Given the description of an element on the screen output the (x, y) to click on. 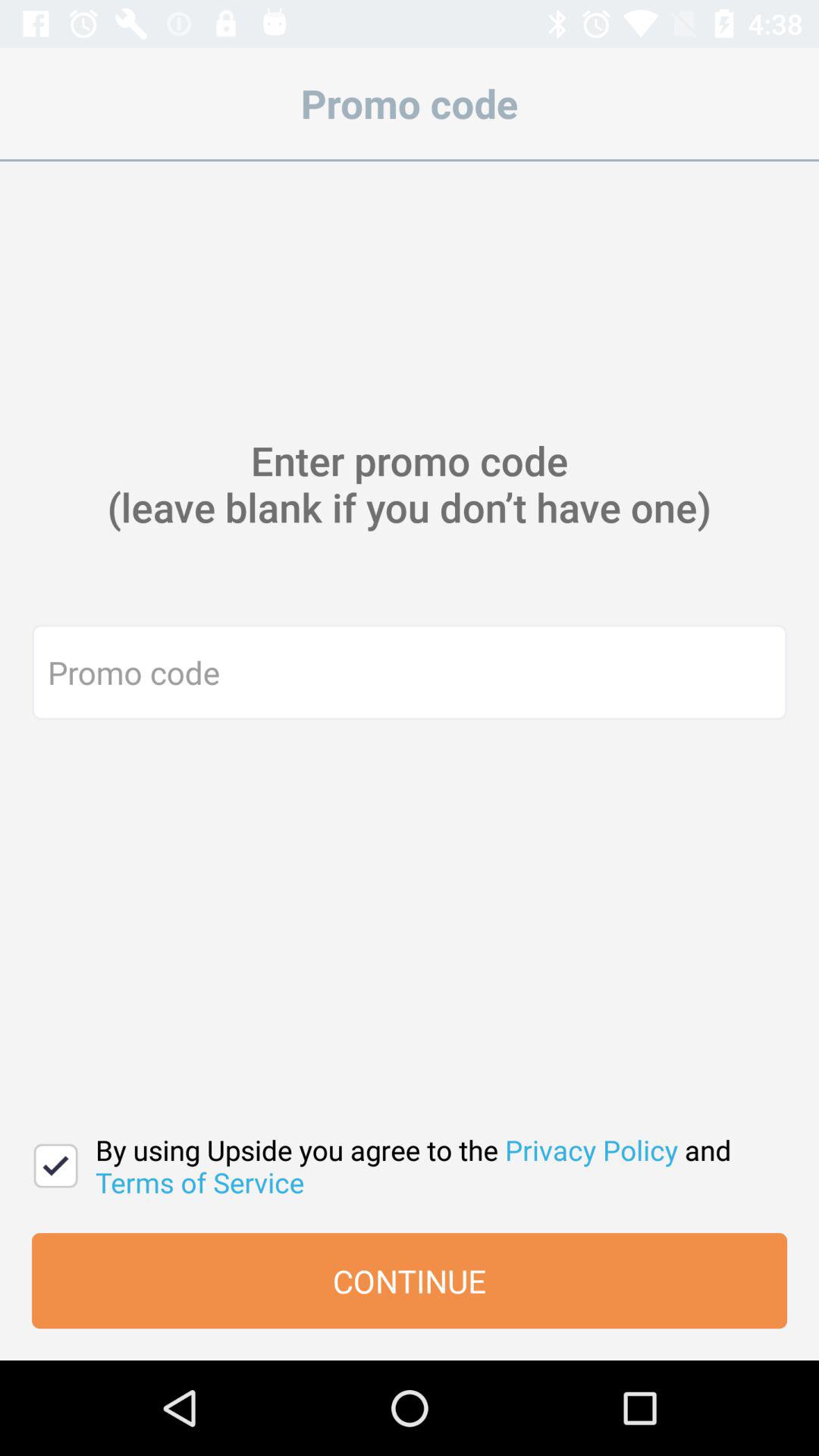
toggle agree to privacy policy and terms of service (55, 1165)
